Given the description of an element on the screen output the (x, y) to click on. 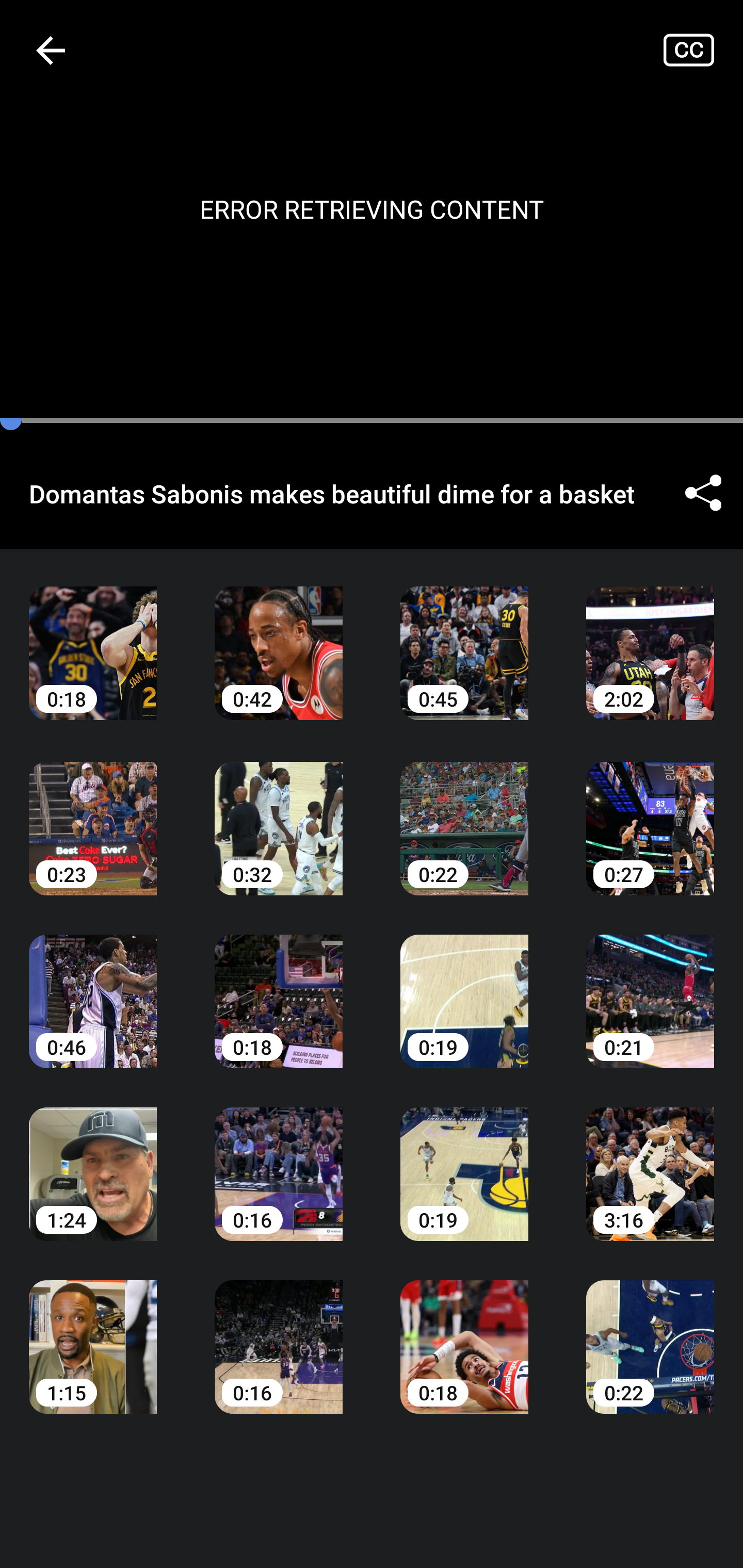
Navigate up (50, 50)
Closed captions  (703, 49)
Share © (703, 493)
0:18 (92, 637)
0:42 (278, 637)
0:45 (464, 637)
2:02 (650, 637)
0:23 (92, 813)
0:32 (278, 813)
0:22 (464, 813)
0:27 (650, 813)
0:46 (92, 987)
0:18 (278, 987)
0:19 (464, 987)
0:21 (650, 987)
1:24 (92, 1160)
0:16 (278, 1160)
0:19 (464, 1160)
3:16 (650, 1160)
1:15 (92, 1332)
0:16 (278, 1332)
0:18 (464, 1332)
0:22 (650, 1332)
